Given the description of an element on the screen output the (x, y) to click on. 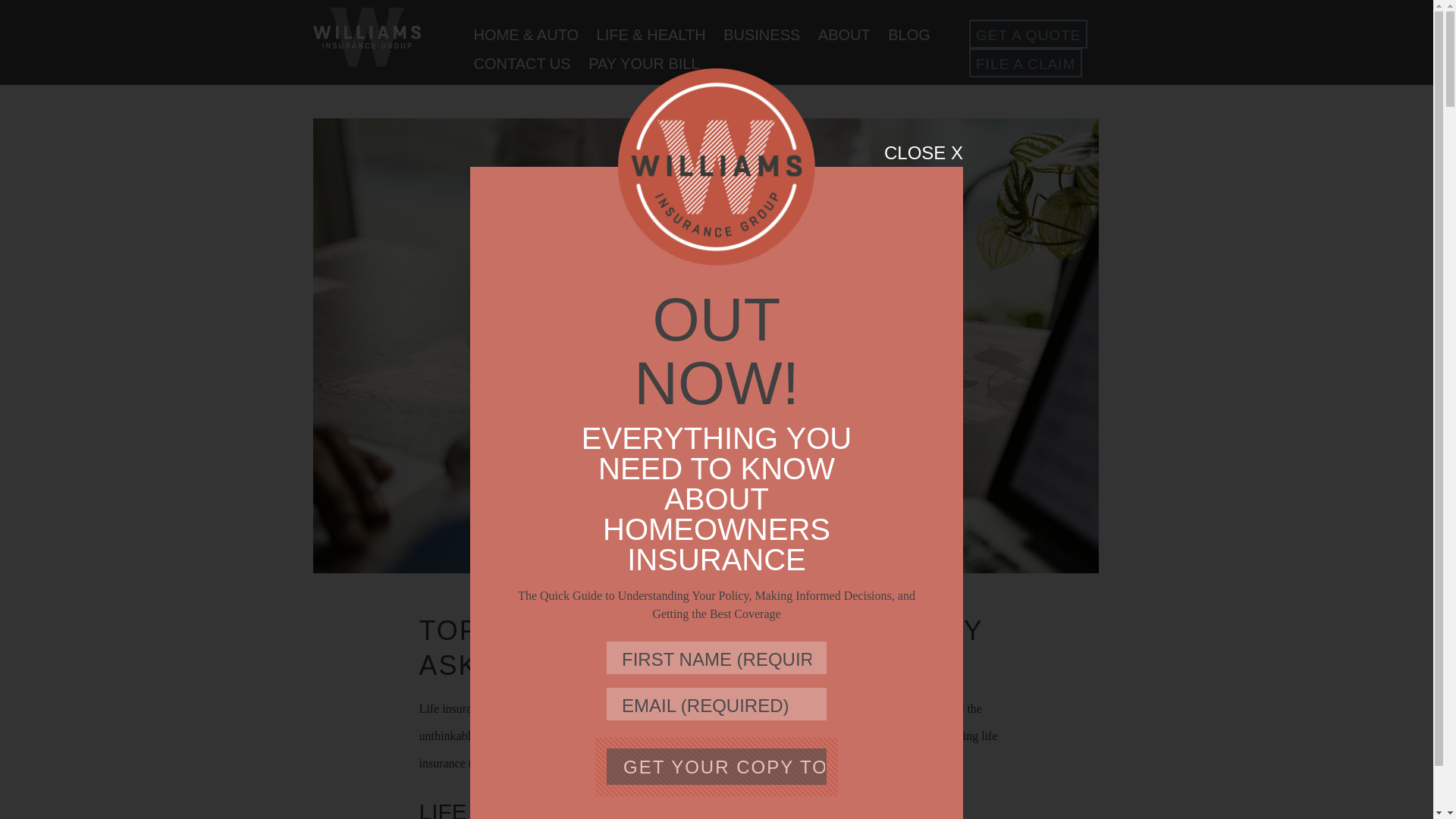
GET A QUOTE (1028, 33)
BLOG (909, 32)
FILE A CLAIM (1025, 62)
ABOUT (844, 32)
Williams Insurance Group (366, 36)
Get Your Copy Today (717, 766)
BUSINESS (761, 32)
PAY YOUR BILL (643, 61)
CONTACT US (521, 61)
